Given the description of an element on the screen output the (x, y) to click on. 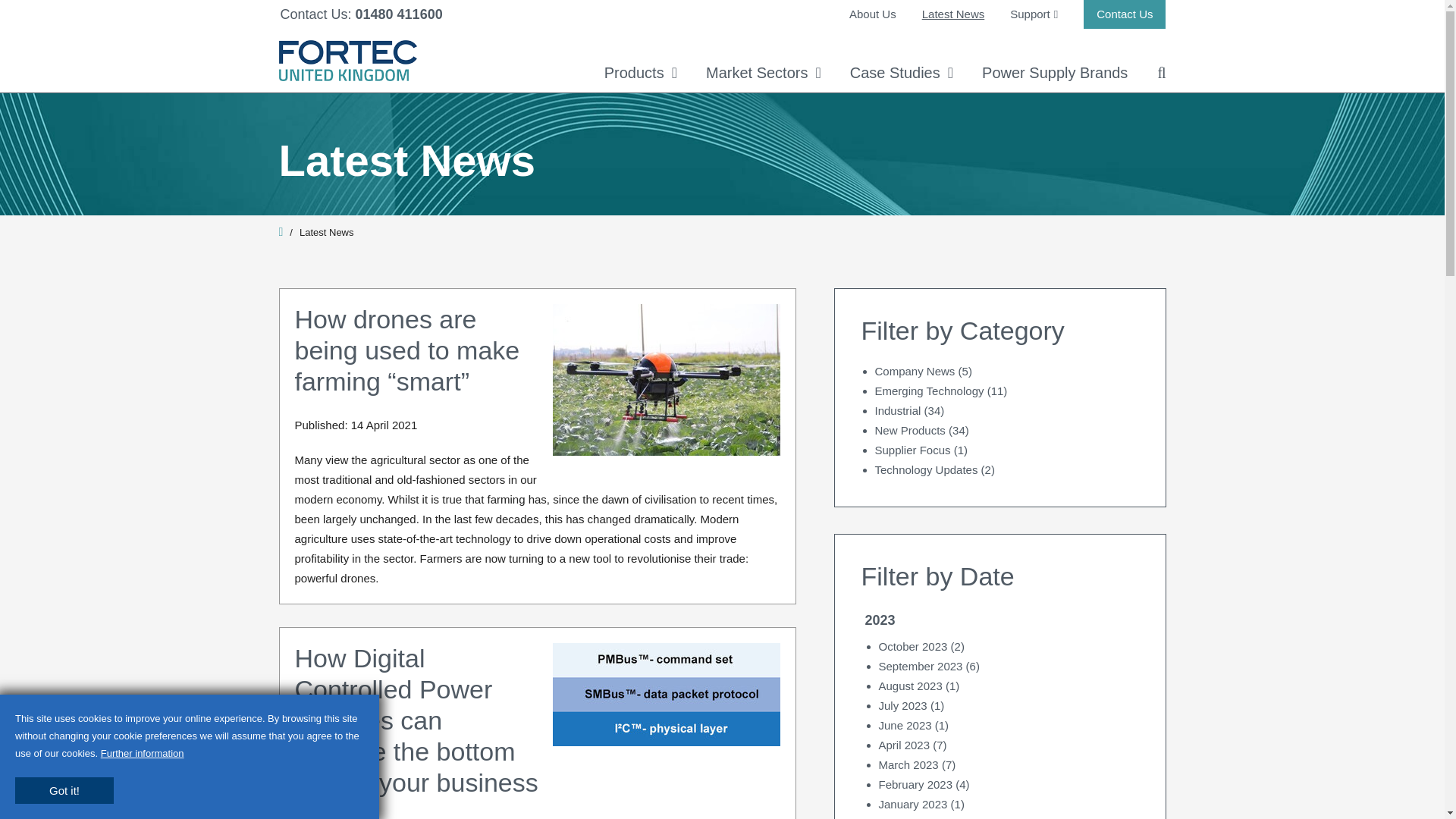
Support (1034, 13)
About Us (872, 13)
Products (640, 72)
Contact Us (1124, 13)
Latest News (953, 13)
